Given the description of an element on the screen output the (x, y) to click on. 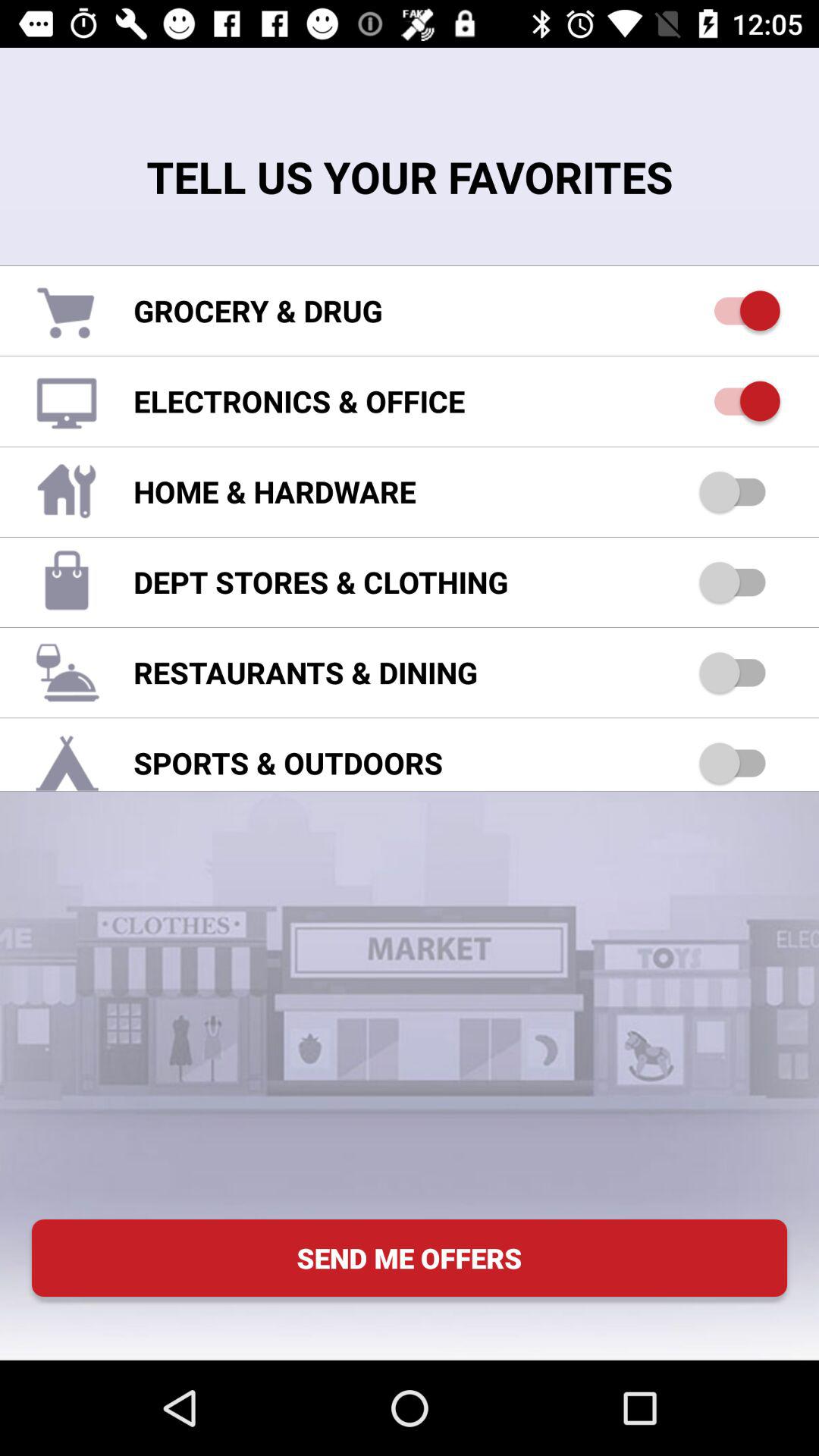
flip until send me offers icon (409, 1257)
